Given the description of an element on the screen output the (x, y) to click on. 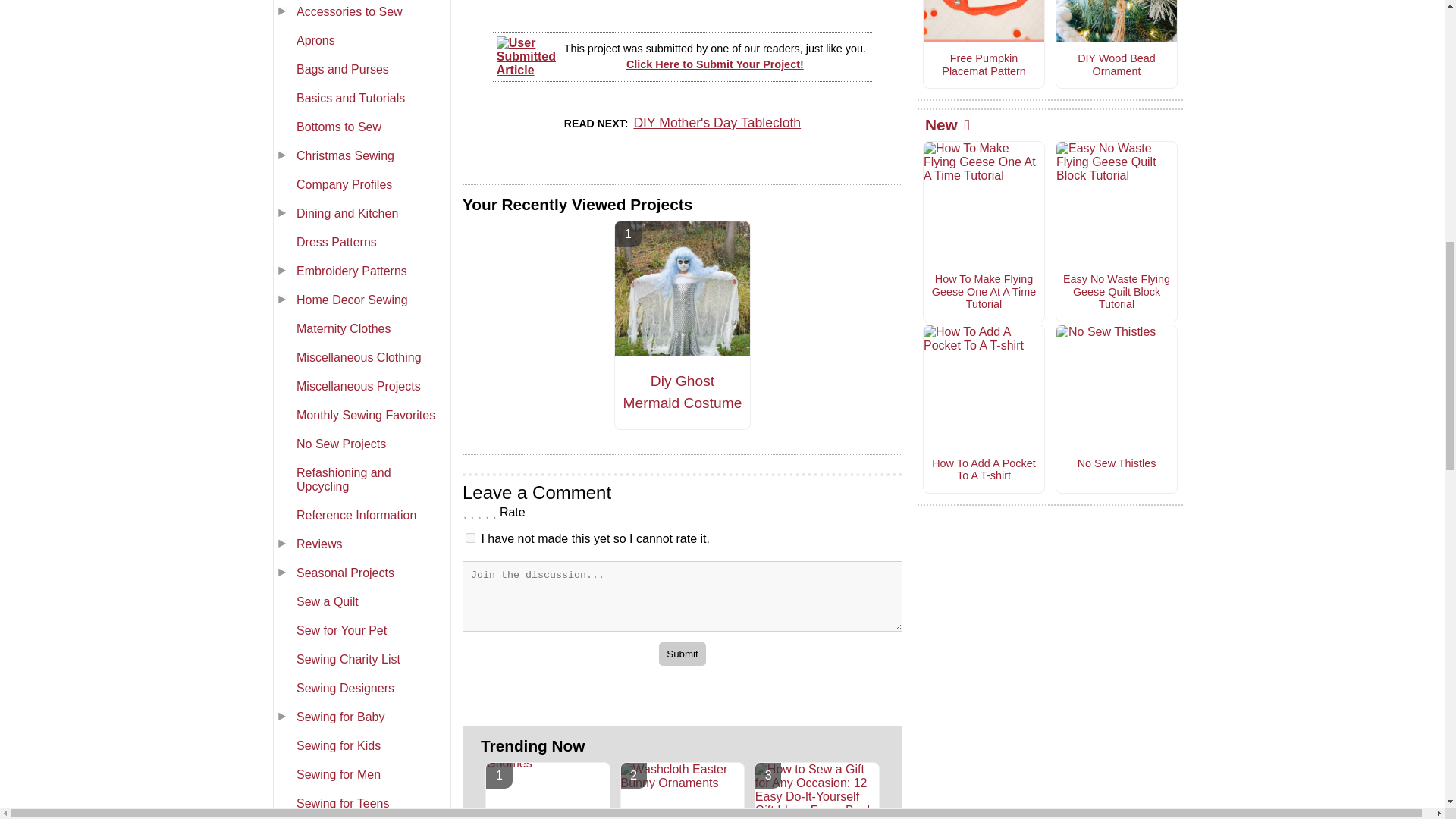
1 (470, 537)
Submit (681, 653)
